Given the description of an element on the screen output the (x, y) to click on. 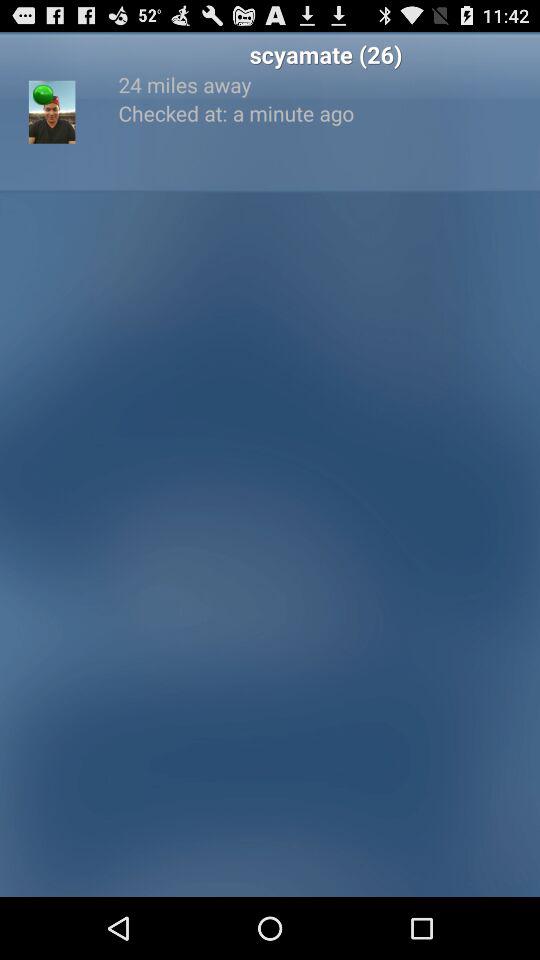
choose icon next to the 24 miles away icon (51, 111)
